Given the description of an element on the screen output the (x, y) to click on. 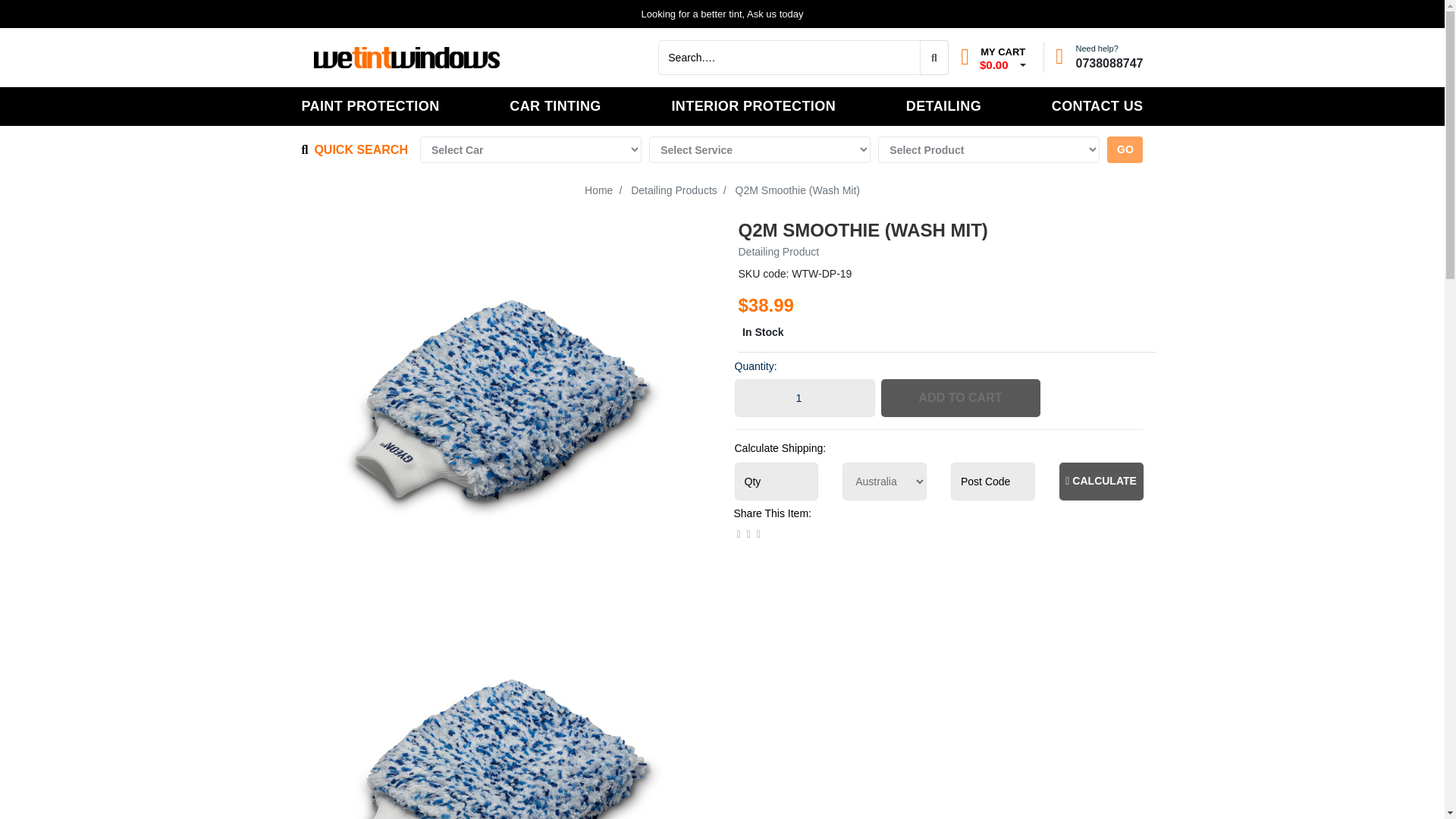
1 (804, 397)
PAINT PROTECTION (370, 106)
0738088747 (1108, 62)
wetintwindows (407, 56)
Calculate (1100, 481)
CAR TINTING (554, 106)
